Given the description of an element on the screen output the (x, y) to click on. 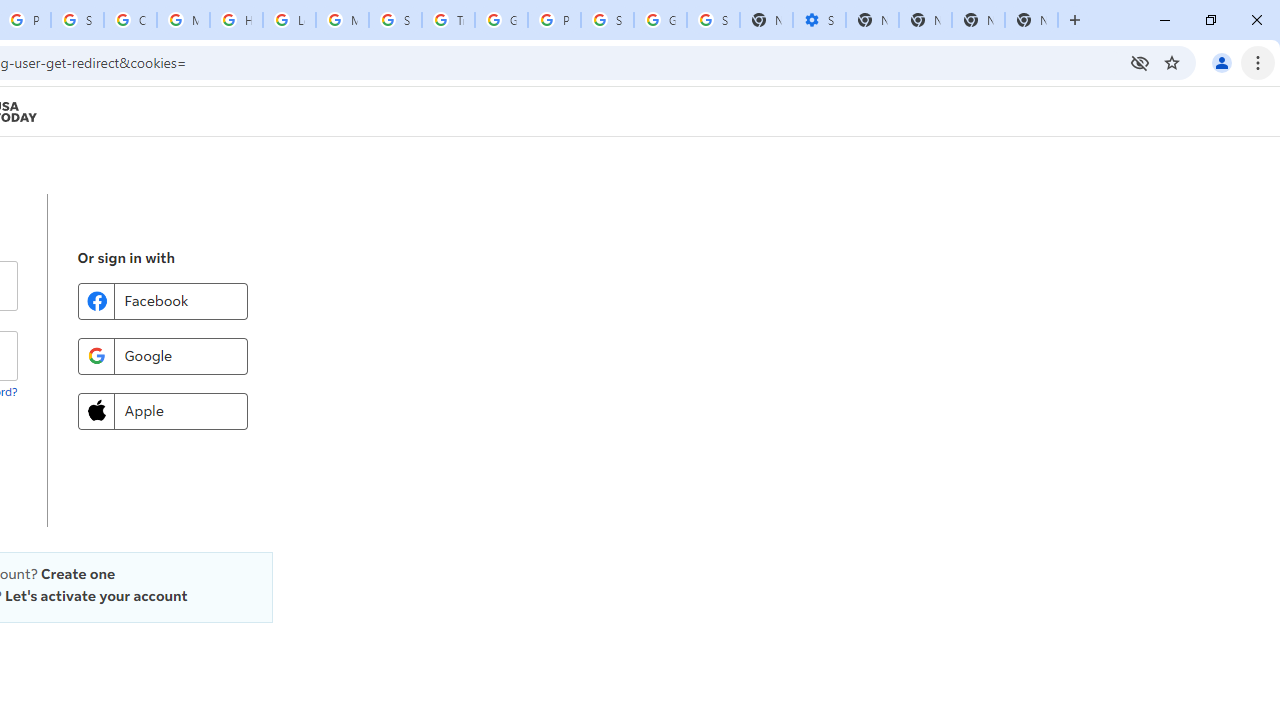
Settings - Performance (819, 20)
Sign in - Google Accounts (77, 20)
New Tab (1031, 20)
Sign in - Google Accounts (713, 20)
Sign in - Google Accounts (607, 20)
Google Cybersecurity Innovations - Google Safety Center (660, 20)
